Given the description of an element on the screen output the (x, y) to click on. 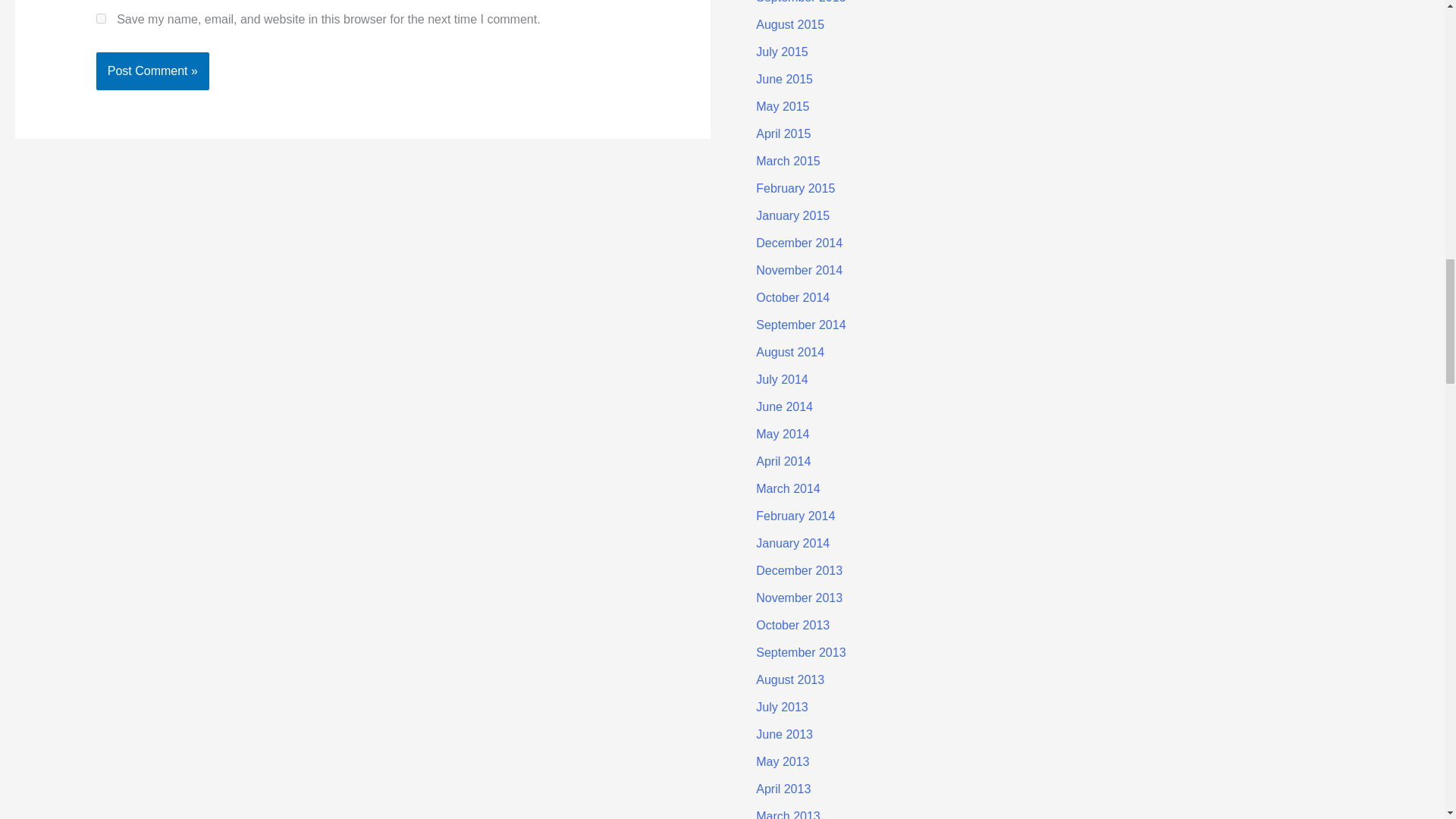
yes (101, 18)
